Given the description of an element on the screen output the (x, y) to click on. 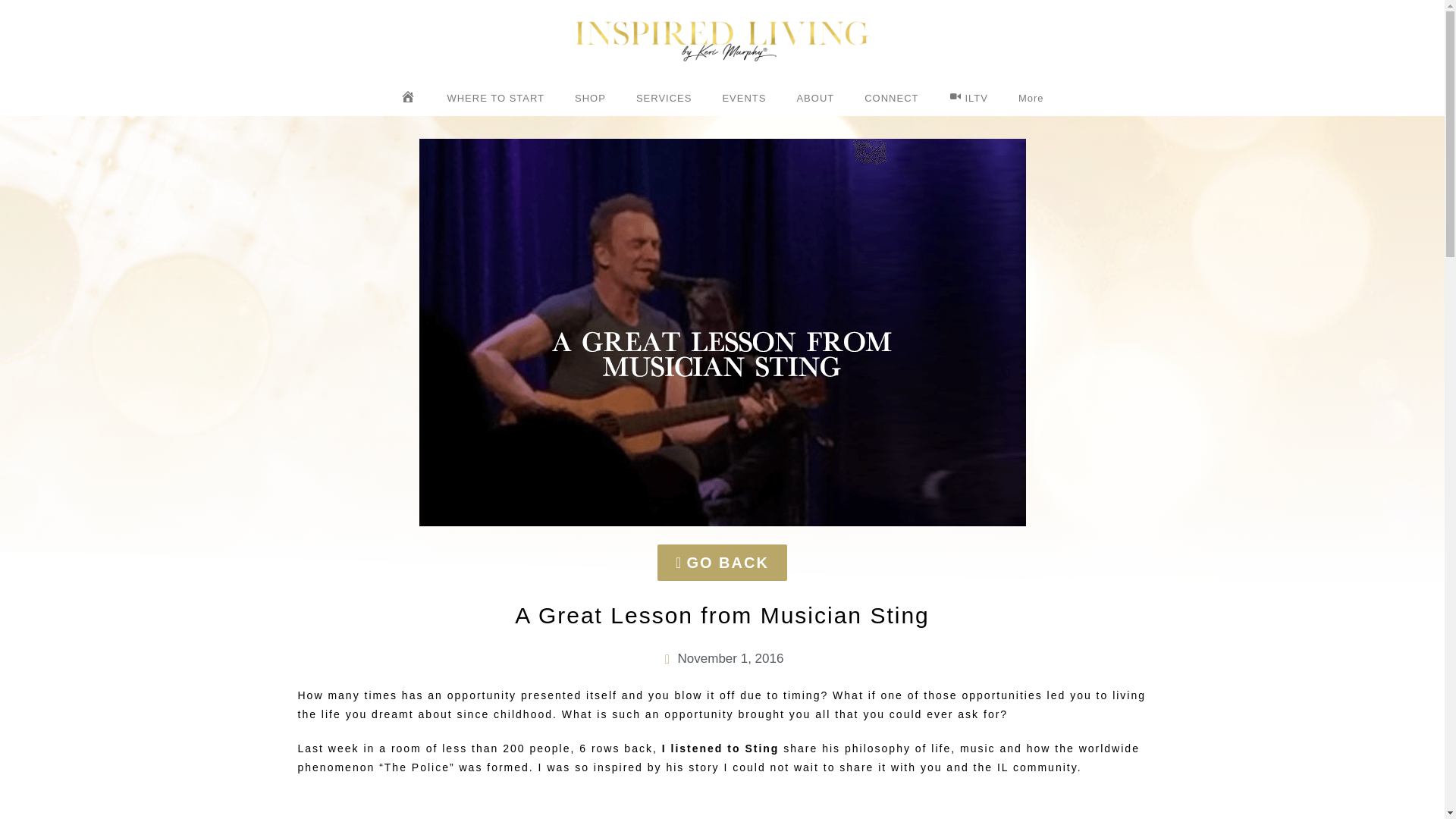
SHOP (590, 98)
CONNECT (890, 98)
HOME (407, 98)
SERVICES (664, 98)
WHERE TO START (494, 98)
ILTV (968, 98)
ABOUT (814, 98)
EVENTS (743, 98)
More (1031, 98)
